Given the description of an element on the screen output the (x, y) to click on. 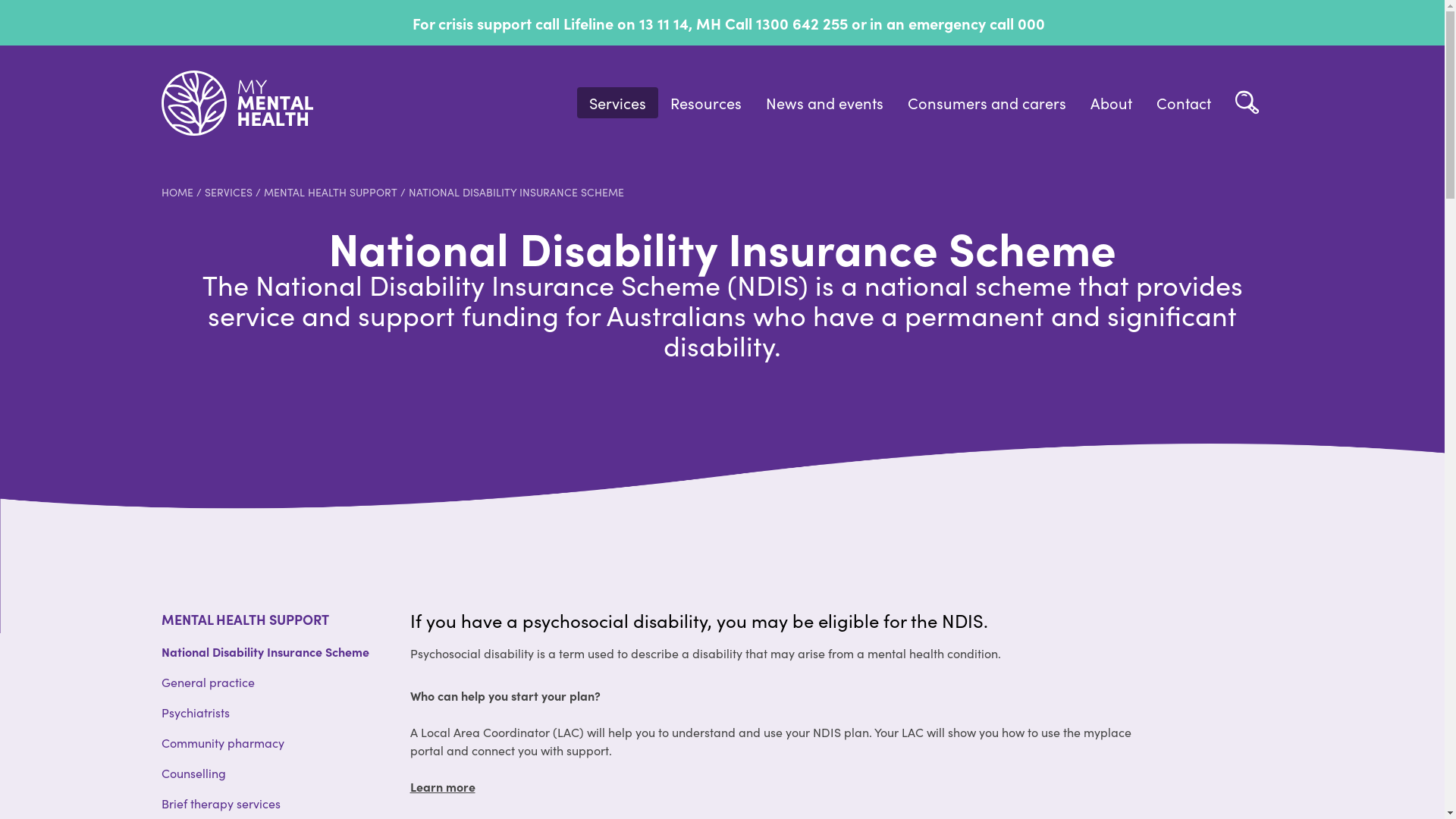
Resources Element type: text (705, 102)
Brief therapy services Element type: text (219, 802)
News and events Element type: text (824, 102)
Consumers and carers Element type: text (985, 102)
SERVICES Element type: text (228, 191)
MENTAL HEALTH SUPPORT Element type: text (244, 618)
Psychiatrists Element type: text (194, 711)
MENTAL HEALTH SUPPORT Element type: text (330, 191)
Learn more Element type: text (441, 786)
HOME Element type: text (176, 191)
About Element type: text (1111, 102)
Services Element type: text (616, 102)
National Disability Insurance Scheme Element type: text (264, 651)
Community pharmacy Element type: text (221, 742)
Contact Element type: text (1182, 102)
Counselling Element type: text (192, 772)
General practice Element type: text (207, 681)
